Given the description of an element on the screen output the (x, y) to click on. 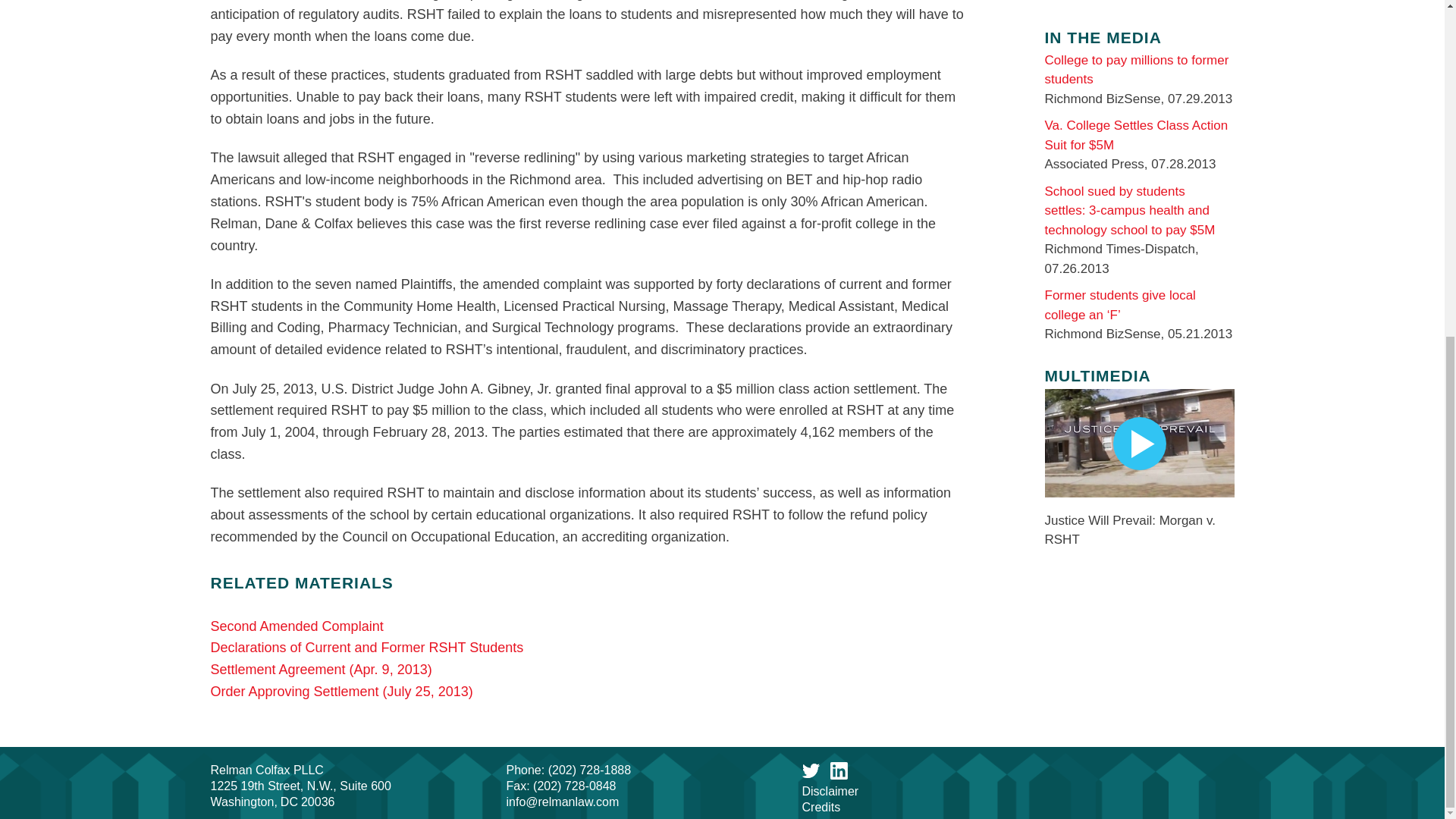
Second Amended Complaint (297, 626)
College to pay millions to former students (1136, 69)
Declarations of Current and Former RSHT Students (367, 647)
